Given the description of an element on the screen output the (x, y) to click on. 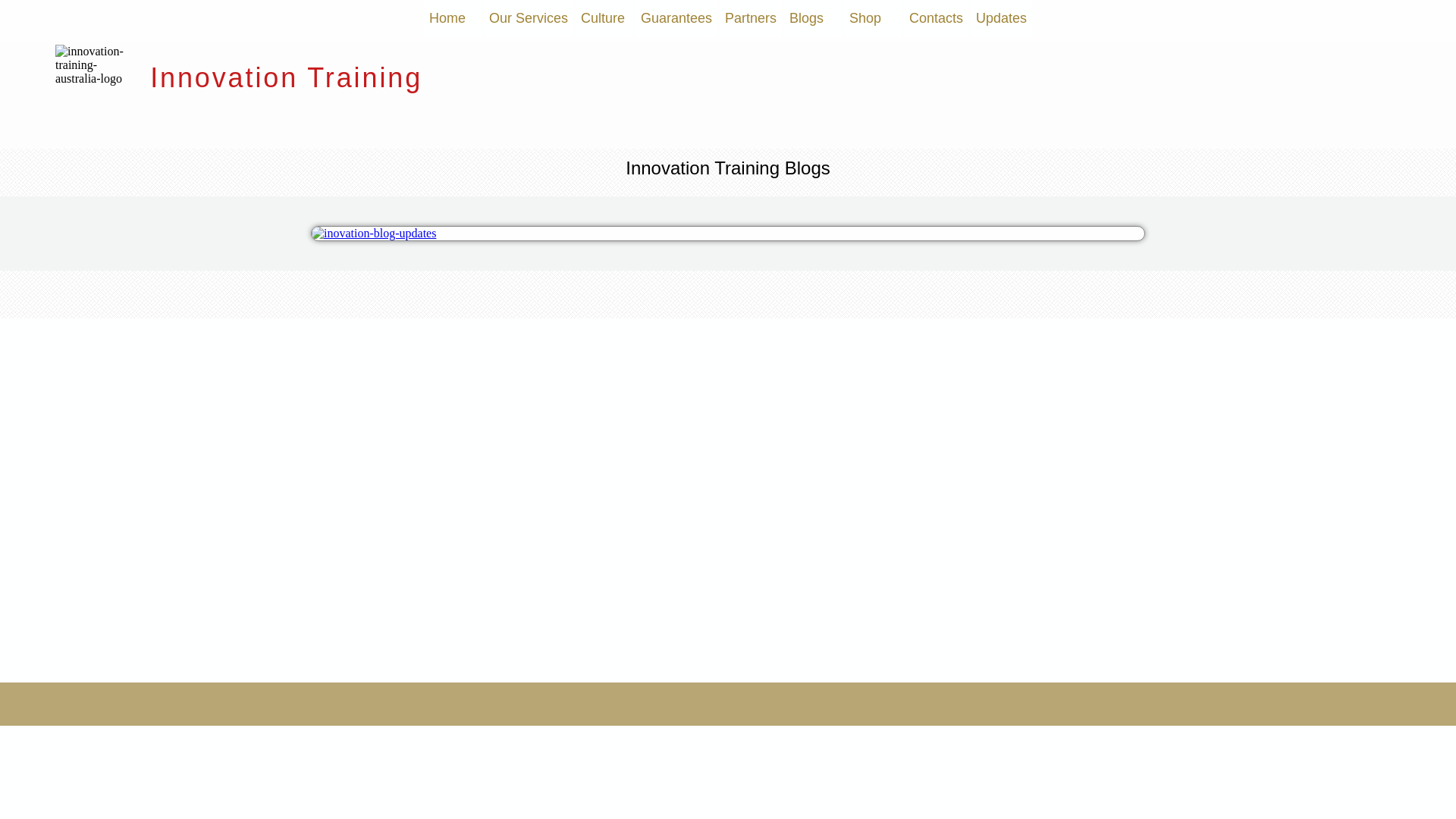
Shop Element type: text (872, 18)
Updates Element type: text (1001, 18)
Guarantees Element type: text (676, 18)
Home Element type: text (452, 18)
Contacts Element type: text (935, 18)
Partners Element type: text (750, 18)
Culture Element type: text (604, 18)
Blogs Element type: text (812, 18)
Our Services Element type: text (528, 18)
